Given the description of an element on the screen output the (x, y) to click on. 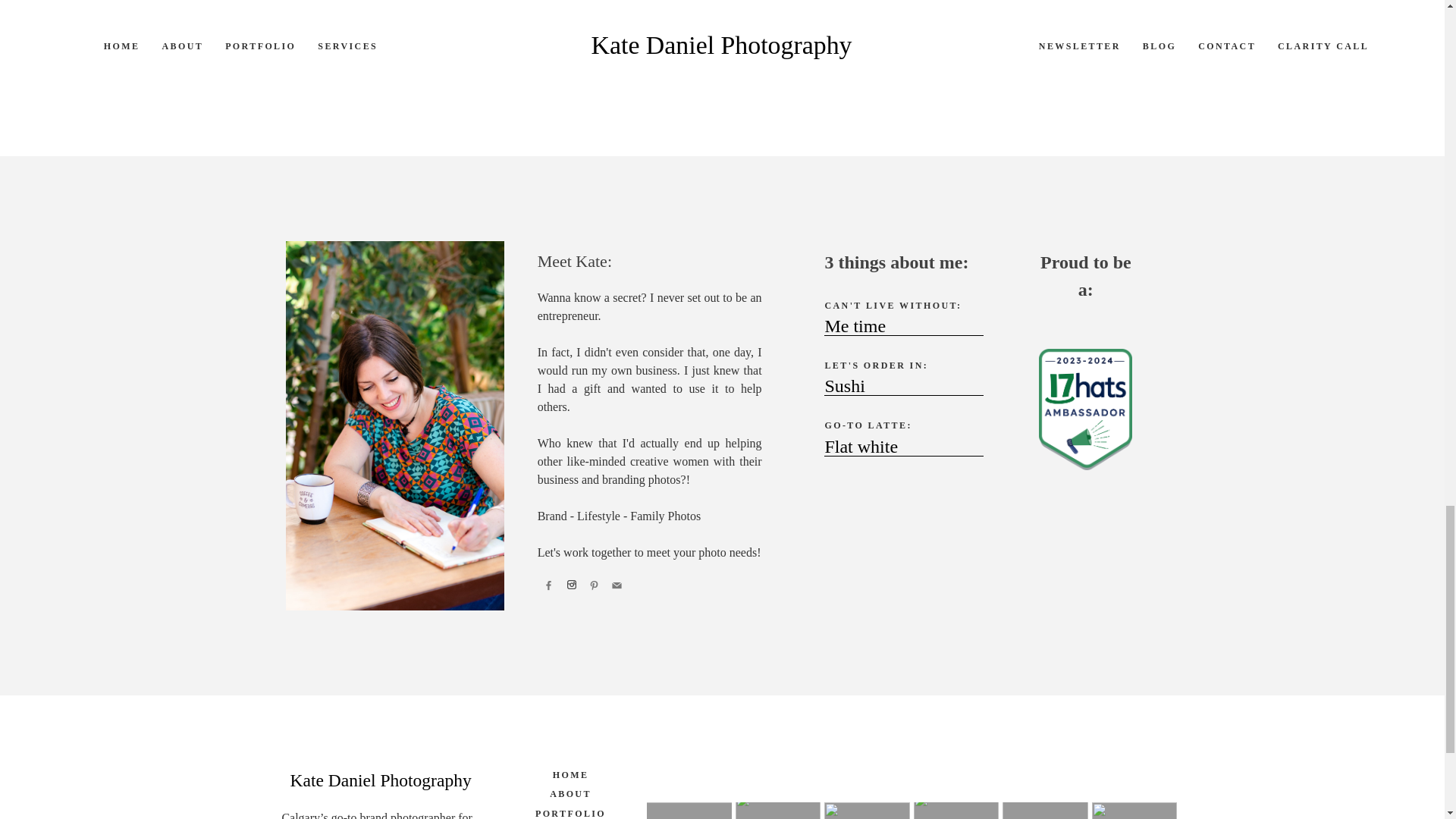
Springtime in Victoria (1114, 10)
Sandy Beach Park photo shoot (350, 10)
